Given the description of an element on the screen output the (x, y) to click on. 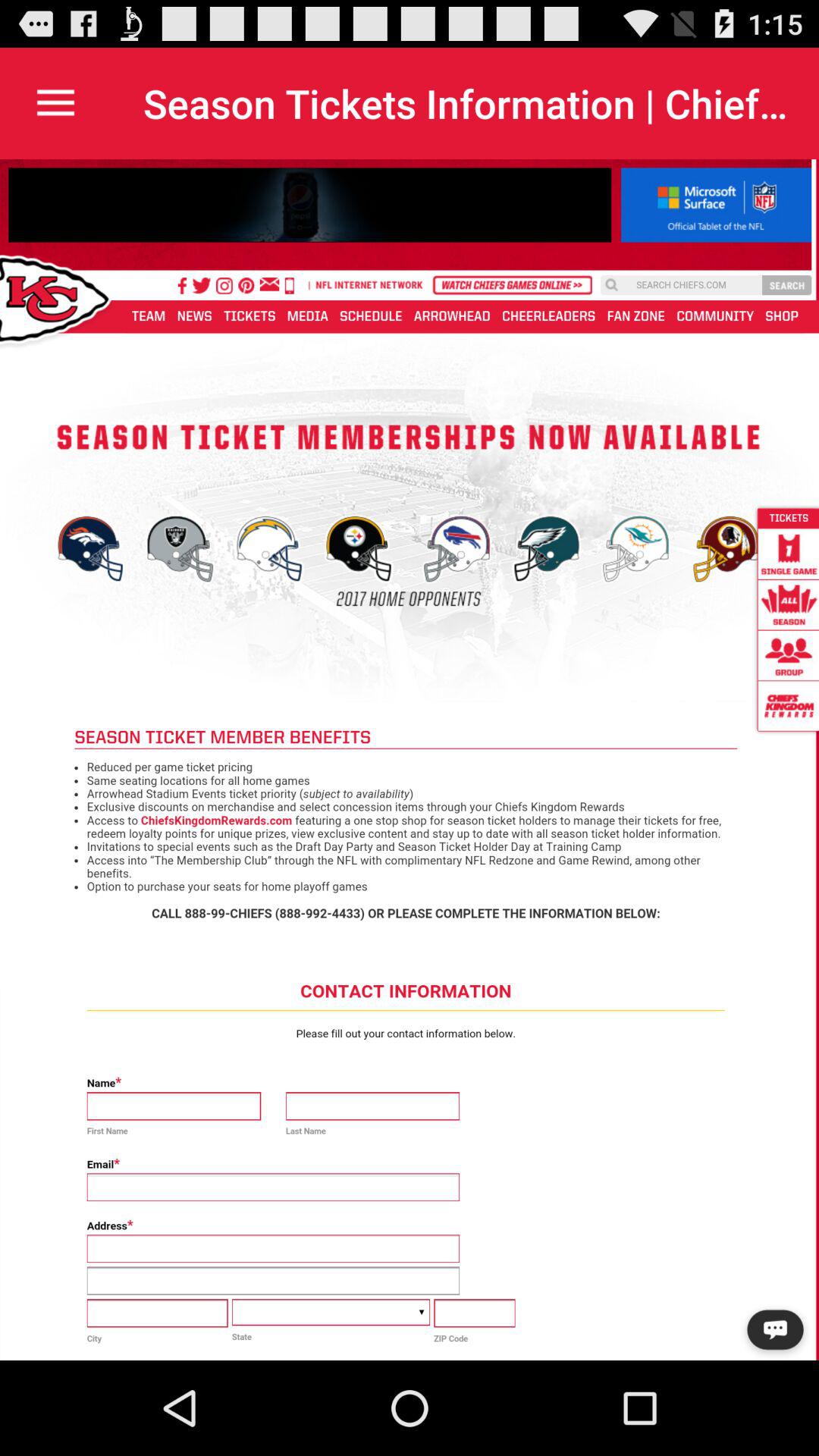
fill form (409, 759)
